Given the description of an element on the screen output the (x, y) to click on. 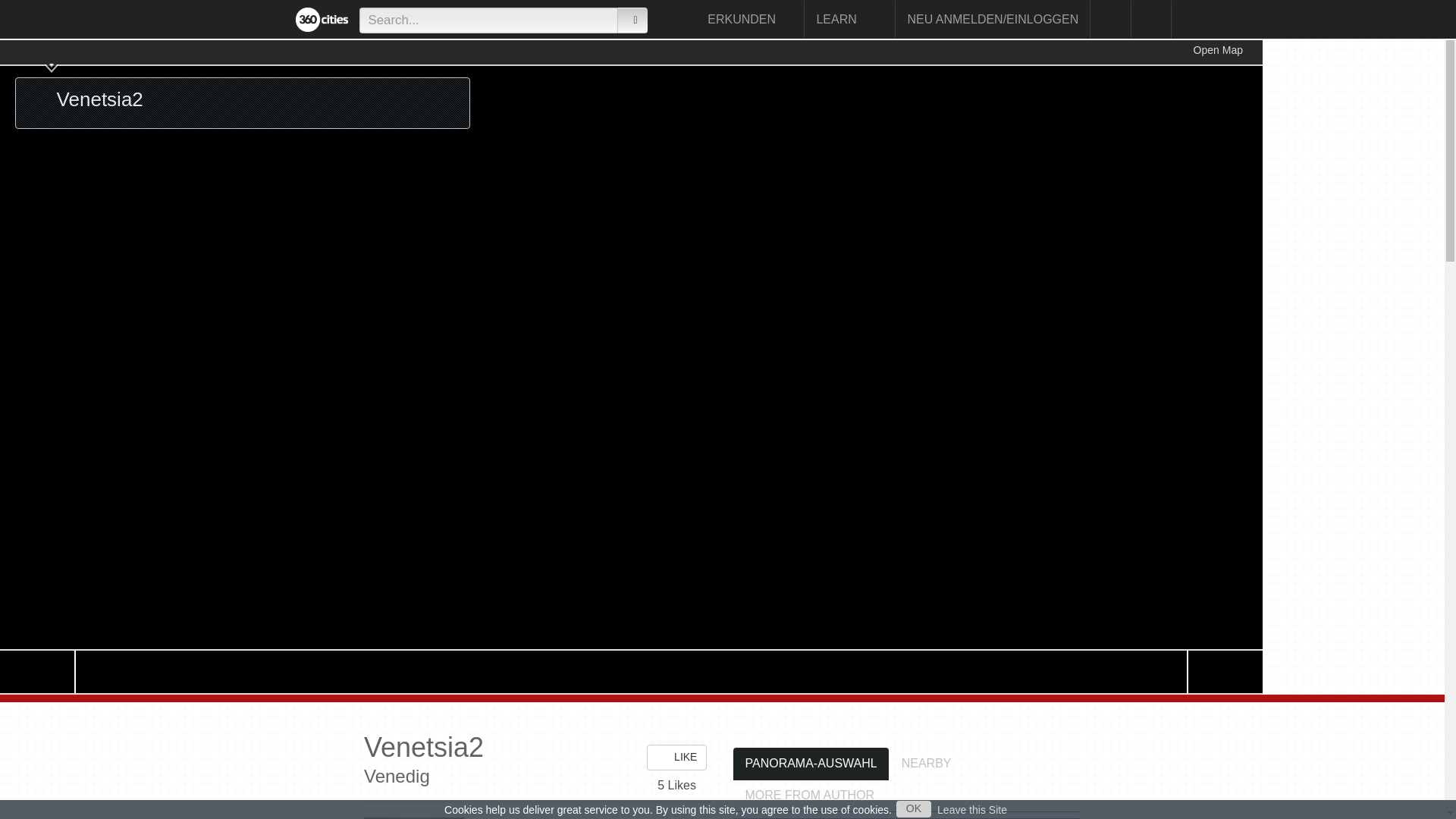
ERKUNDEN (750, 19)
Advertisement (1338, 266)
LEARN (850, 19)
